Given the description of an element on the screen output the (x, y) to click on. 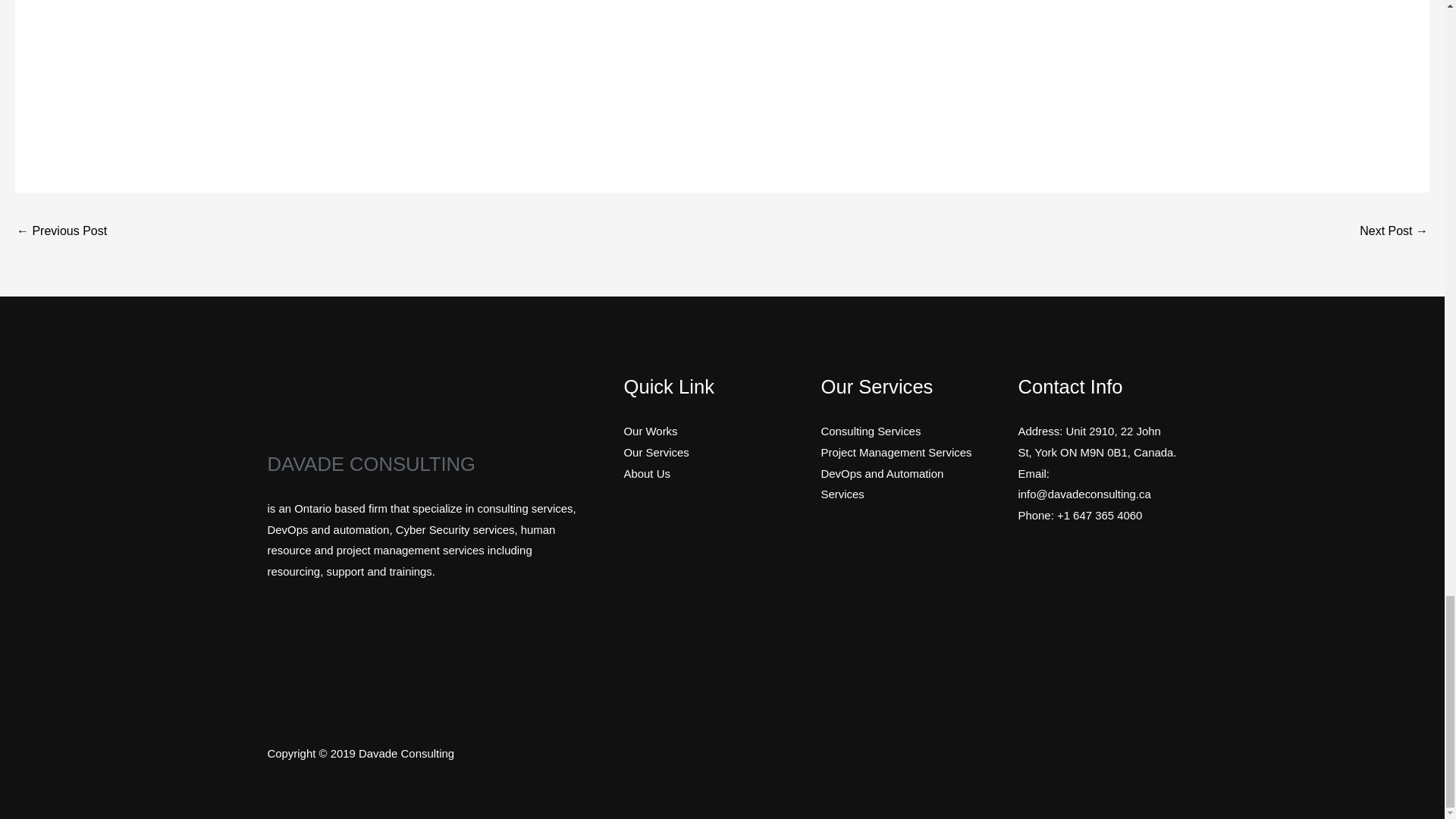
About Us (646, 472)
Project Management Services (896, 451)
Consulting Services (870, 431)
Our Works (650, 431)
Our Services (655, 451)
Find your perfect match on our age gap dating site (1393, 232)
DevOps and Automation Services (882, 483)
